Given the description of an element on the screen output the (x, y) to click on. 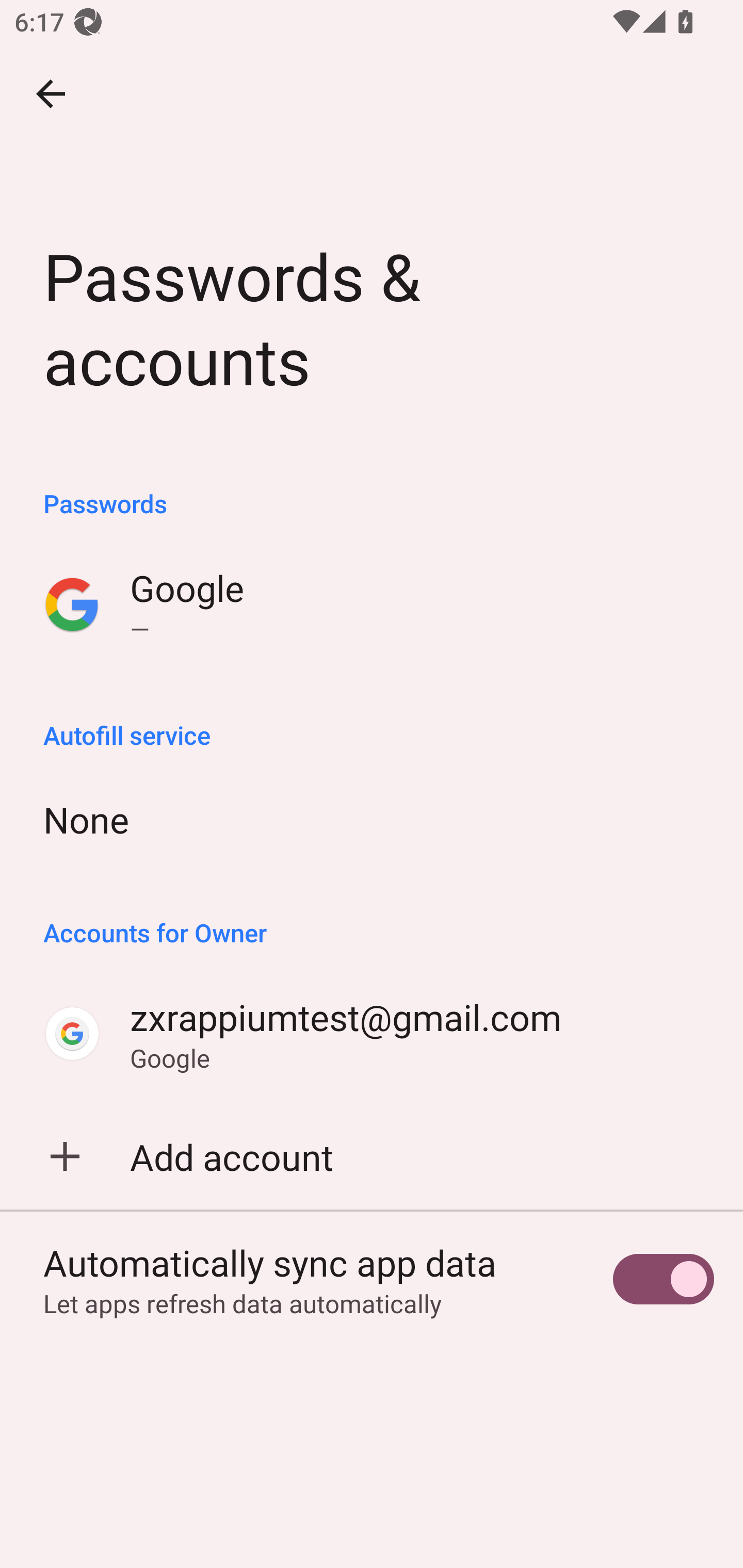
Navigate up (50, 93)
Google — (371, 604)
None (371, 818)
zxrappiumtest@gmail.com Google (371, 1033)
Add account (371, 1155)
